Given the description of an element on the screen output the (x, y) to click on. 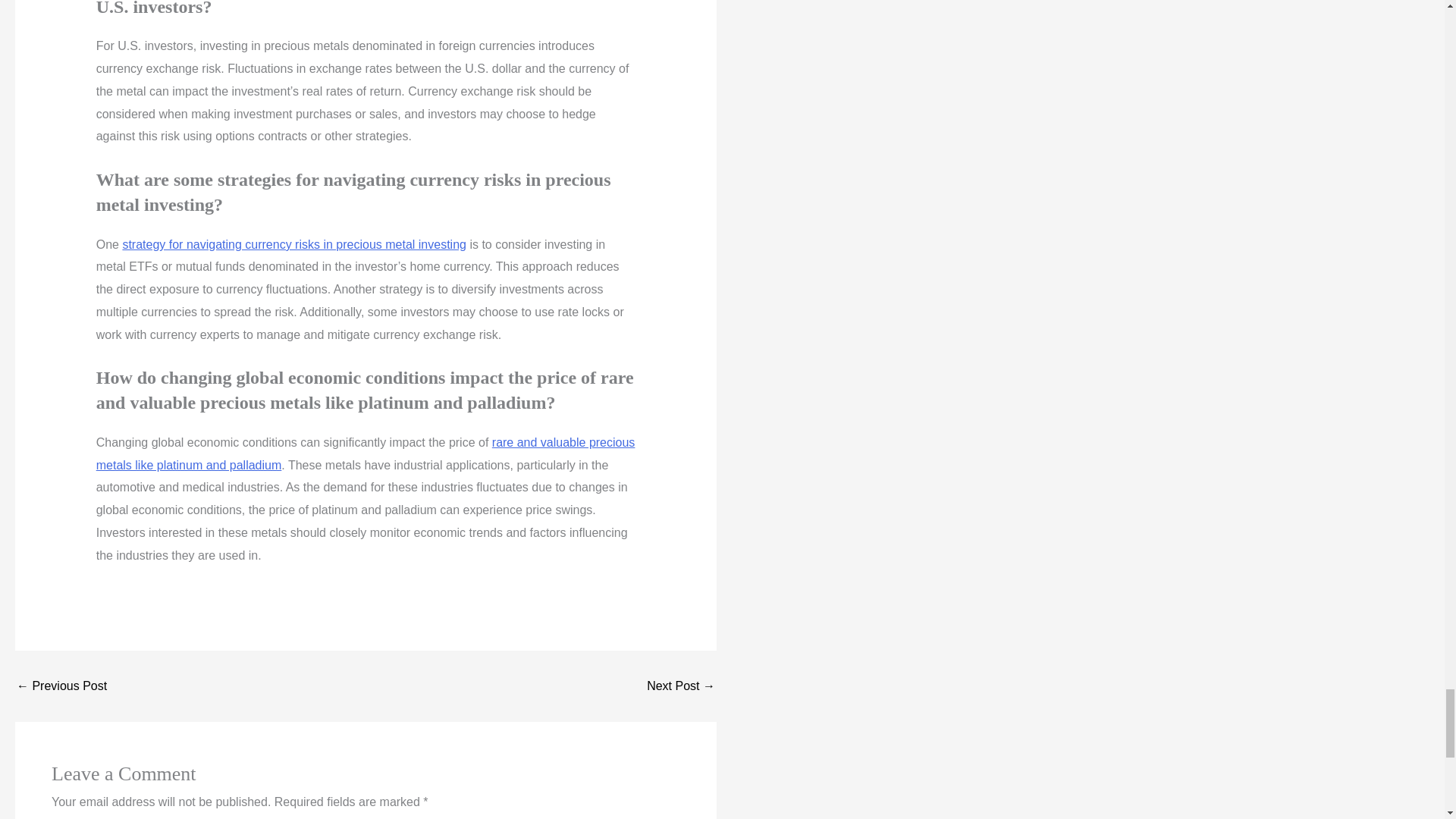
Quantifying the Diversification Benefits of Precious Metals (61, 686)
How Precious Metals Can Enhance Portfolio Performance (680, 686)
